Given the description of an element on the screen output the (x, y) to click on. 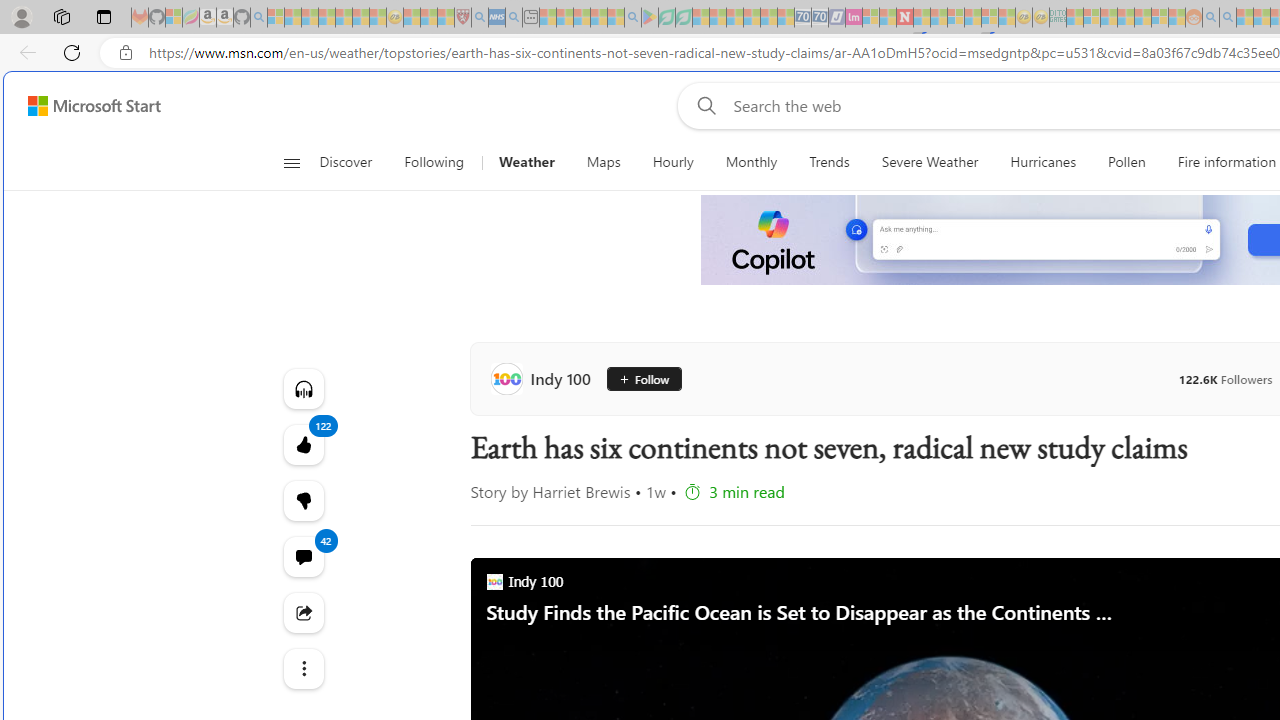
Pets - MSN - Sleeping (598, 17)
Hourly (672, 162)
Monthly (751, 162)
View comments 42 Comment (302, 556)
Maps (603, 162)
Monthly (751, 162)
